Given the description of an element on the screen output the (x, y) to click on. 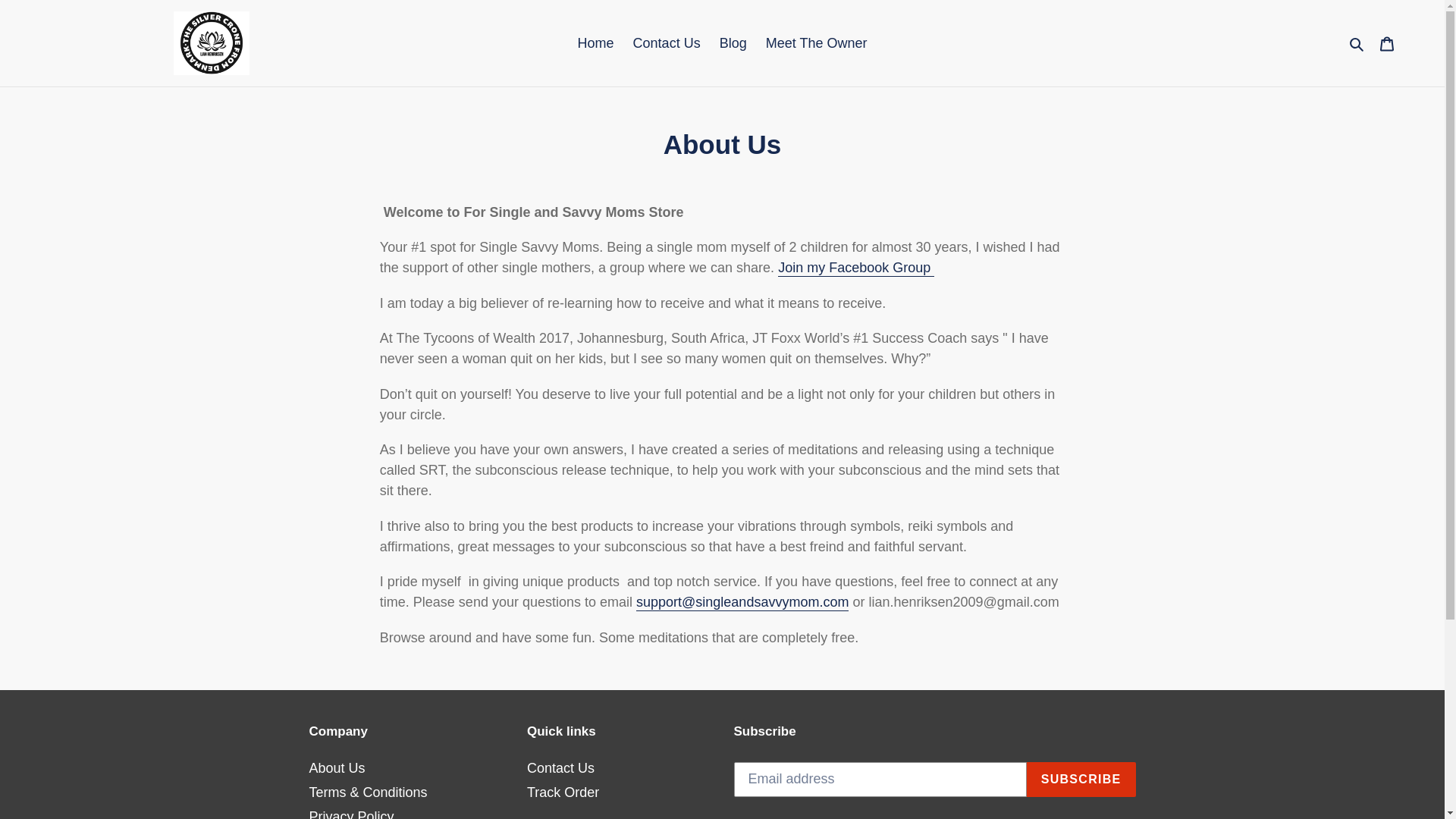
About Us (336, 767)
Track Order (562, 792)
Meet The Owner (816, 42)
Contact Us (666, 42)
Contact Us (560, 767)
SUBSCRIBE (1080, 779)
Blog (732, 42)
Search (1357, 42)
Cart (1387, 43)
Join my Facebook Group  (855, 268)
